Given the description of an element on the screen output the (x, y) to click on. 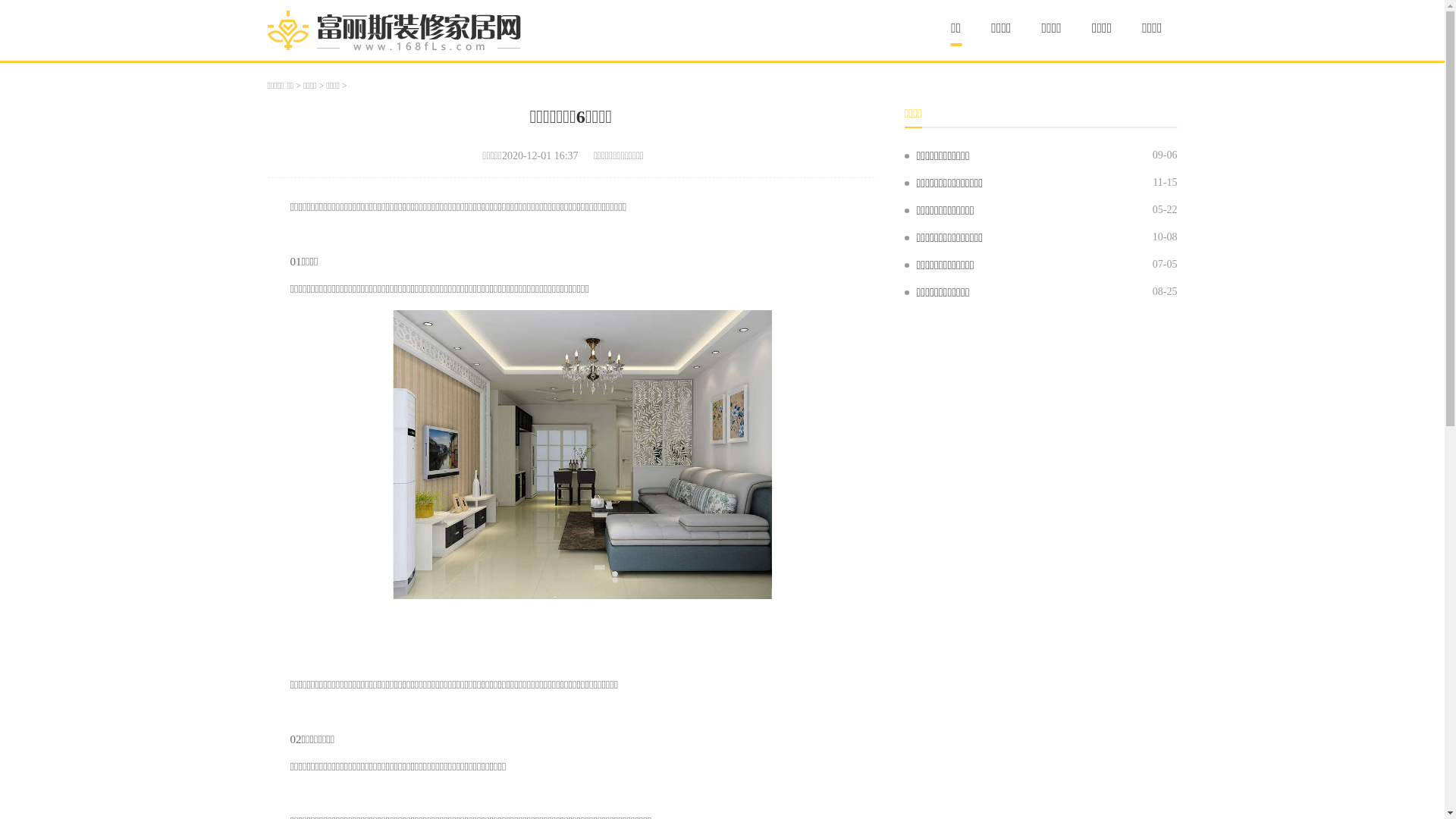
  Element type: text (290, 657)
